Given the description of an element on the screen output the (x, y) to click on. 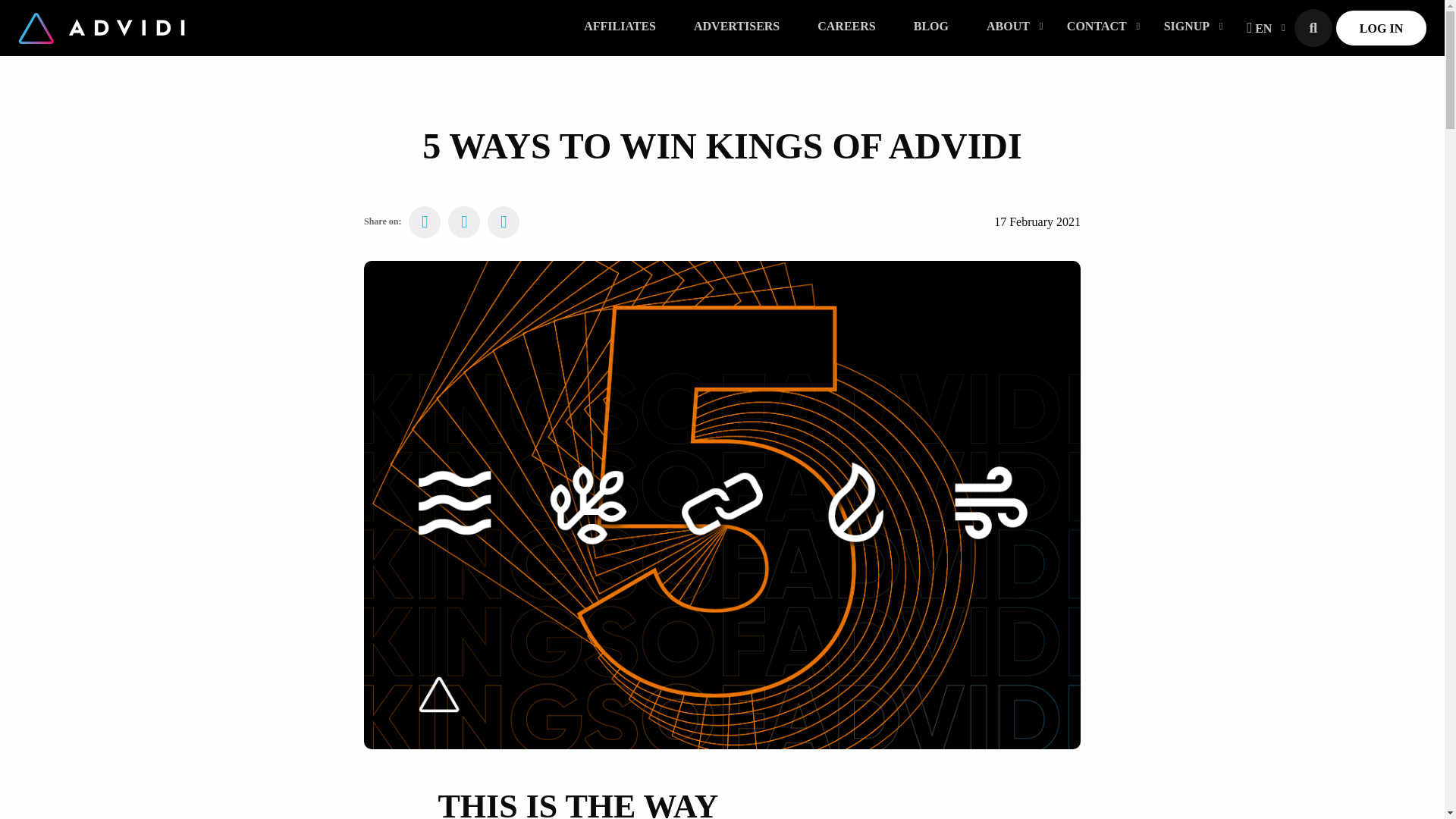
Share on Twitter (464, 222)
Advidi (100, 27)
CONTACT (1096, 26)
Share on Facebook (425, 222)
SIGNUP (1185, 26)
BLOG (931, 26)
ADVERTISERS (736, 26)
LOG IN (1381, 27)
CAREERS (845, 26)
AFFILIATES (619, 26)
ABOUT (1008, 26)
EN (1258, 27)
Share on LinkedIn (503, 222)
